Given the description of an element on the screen output the (x, y) to click on. 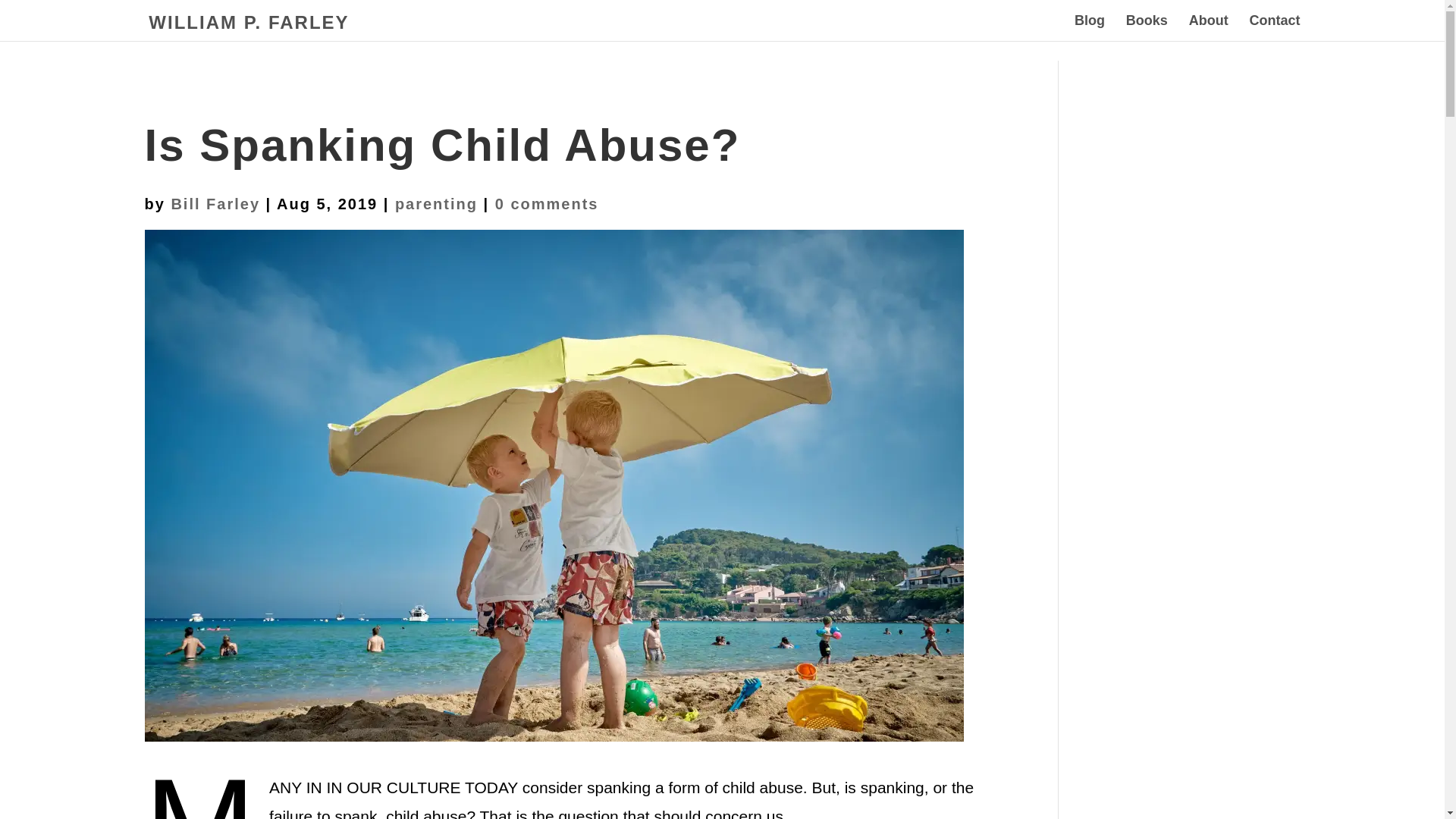
Contact (1274, 27)
Blog (1089, 27)
Books (1146, 27)
Posts by Bill Farley (215, 203)
parenting (435, 203)
WILLIAM P. FARLEY (248, 22)
Bill Farley (215, 203)
About (1208, 27)
0 comments (546, 203)
